Given the description of an element on the screen output the (x, y) to click on. 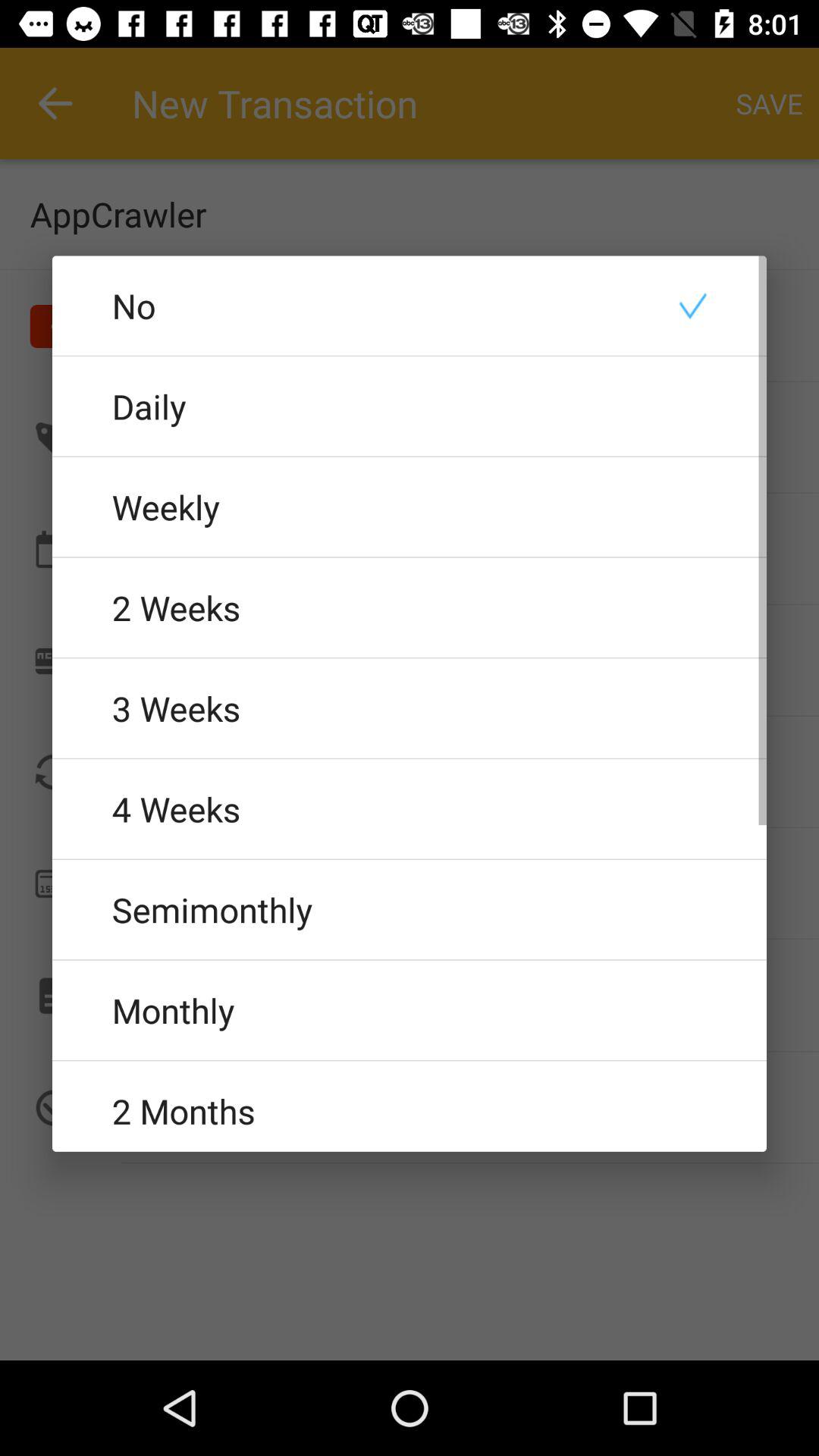
select no (409, 305)
